Given the description of an element on the screen output the (x, y) to click on. 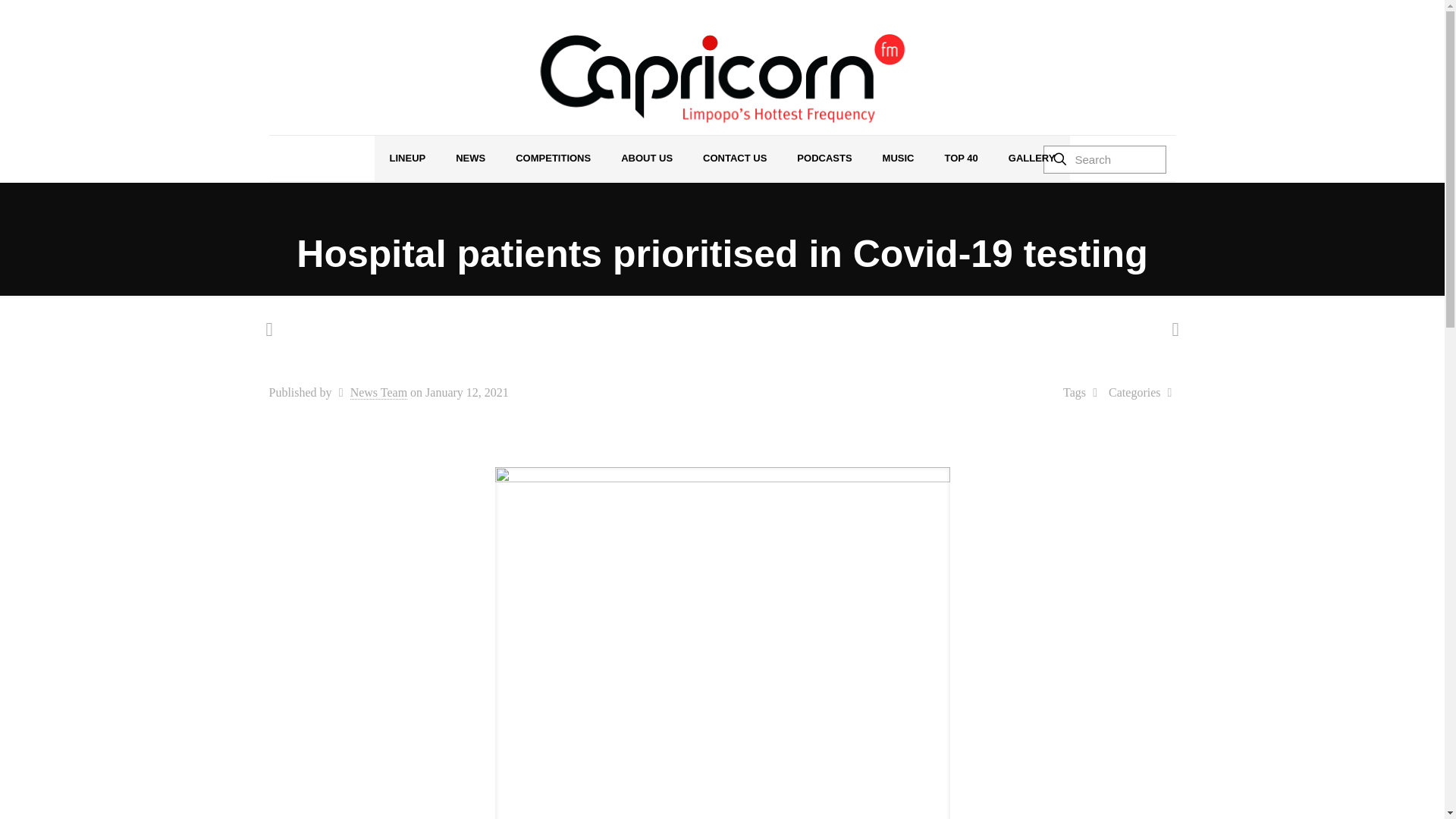
CONTACT US (734, 157)
PODCASTS (823, 157)
News Team (378, 392)
NEWS (470, 157)
GALLERY (1031, 157)
LINEUP (407, 157)
COMPETITIONS (552, 157)
TOP 40 (960, 157)
ABOUT US (646, 157)
Capricorn FM (721, 78)
